Given the description of an element on the screen output the (x, y) to click on. 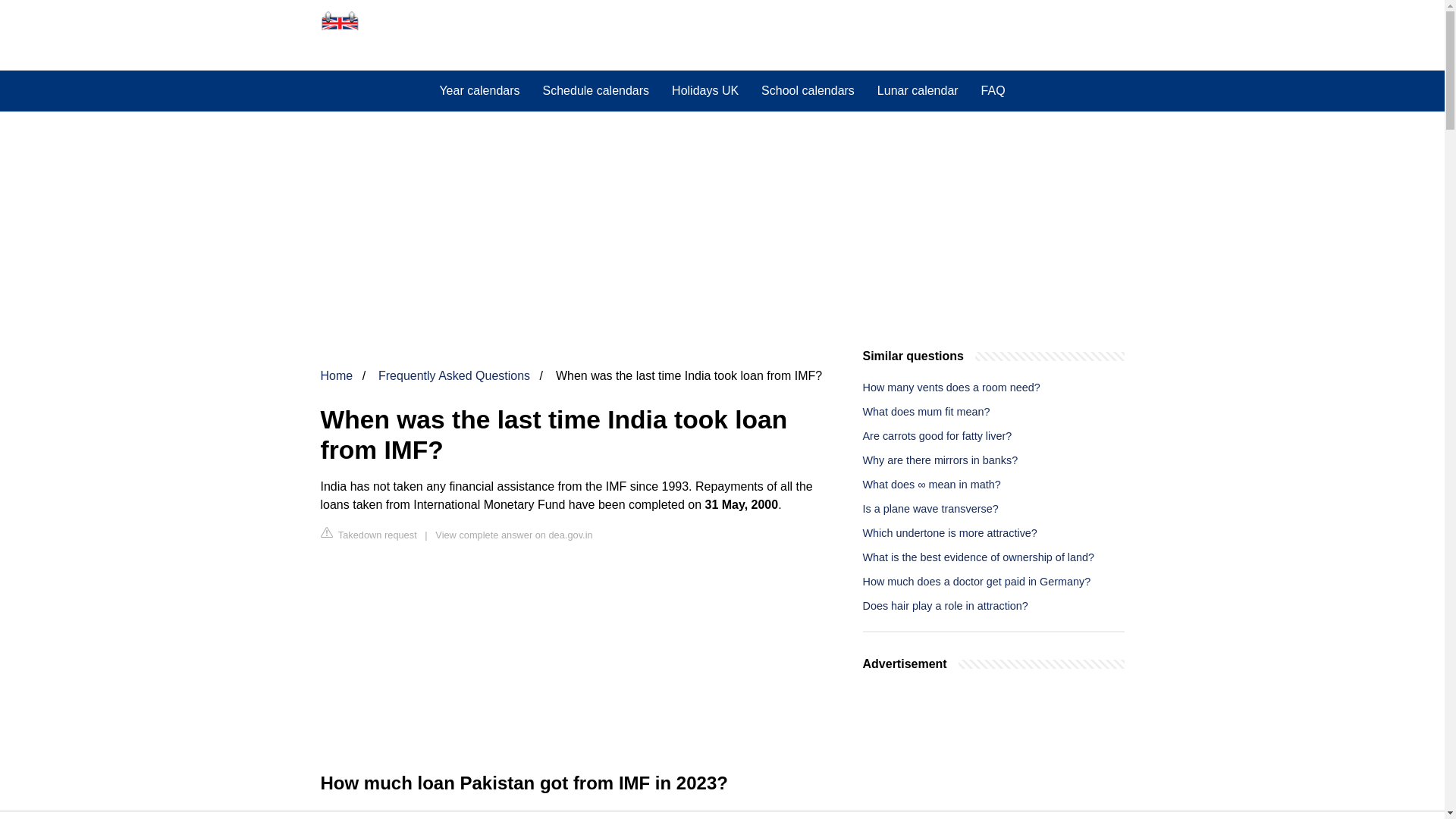
Year calendars (479, 90)
Schedule calendars (596, 90)
School calendars (807, 90)
Home (336, 375)
Holidays UK (705, 90)
FAQ (992, 90)
View complete answer on dea.gov.in (513, 534)
Lunar calendar (917, 90)
Takedown request (368, 534)
Frequently Asked Questions (453, 375)
